Given the description of an element on the screen output the (x, y) to click on. 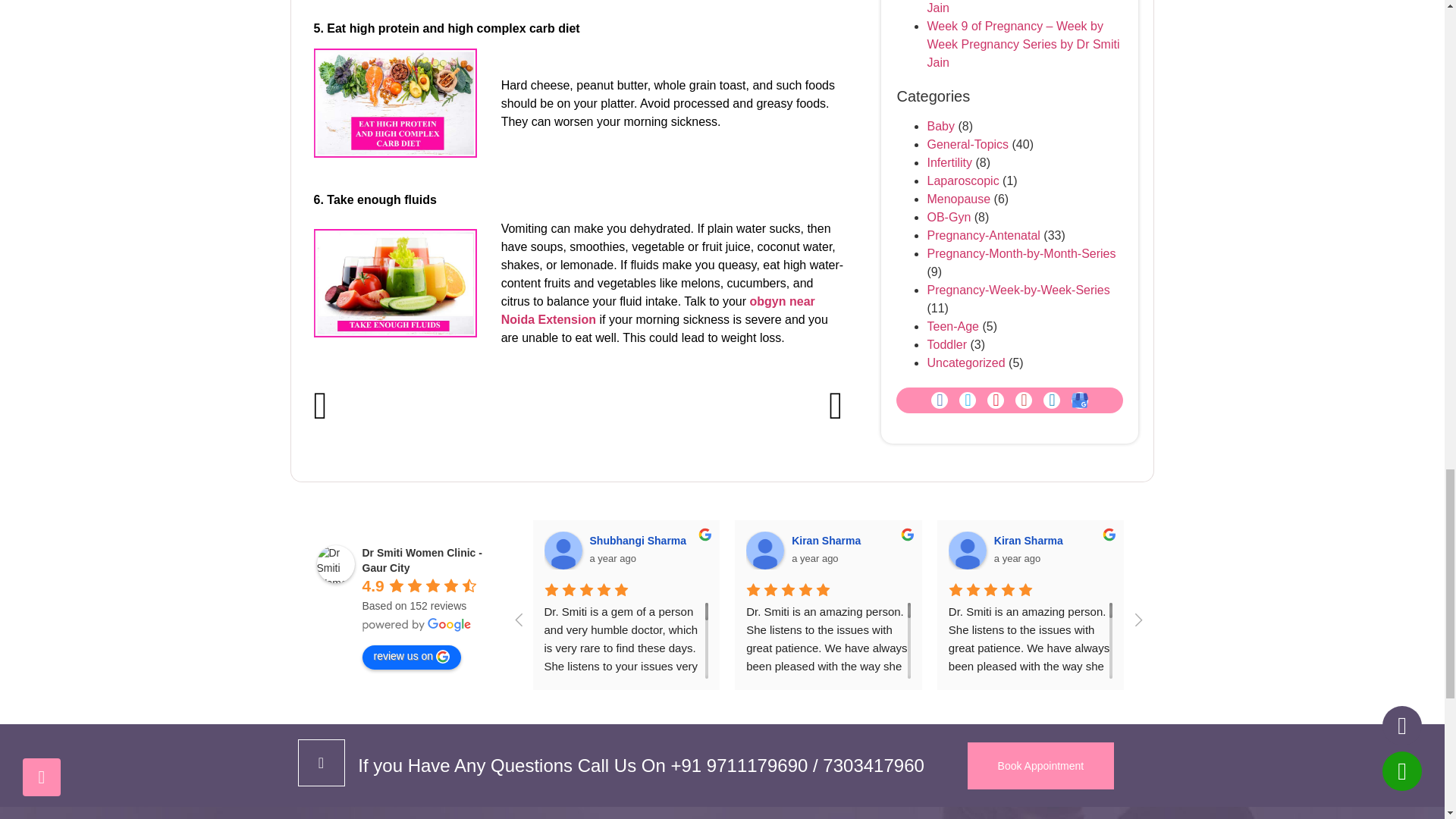
YASHI SRIVASTAVA (1371, 550)
Kiran Sharma (764, 550)
Dr Smiti Women Clinic - Gaur City (336, 564)
powered by Google (416, 624)
Radhey Arora (1169, 550)
Kiran Sharma (968, 550)
Shubhangi Sharma (563, 550)
